Given the description of an element on the screen output the (x, y) to click on. 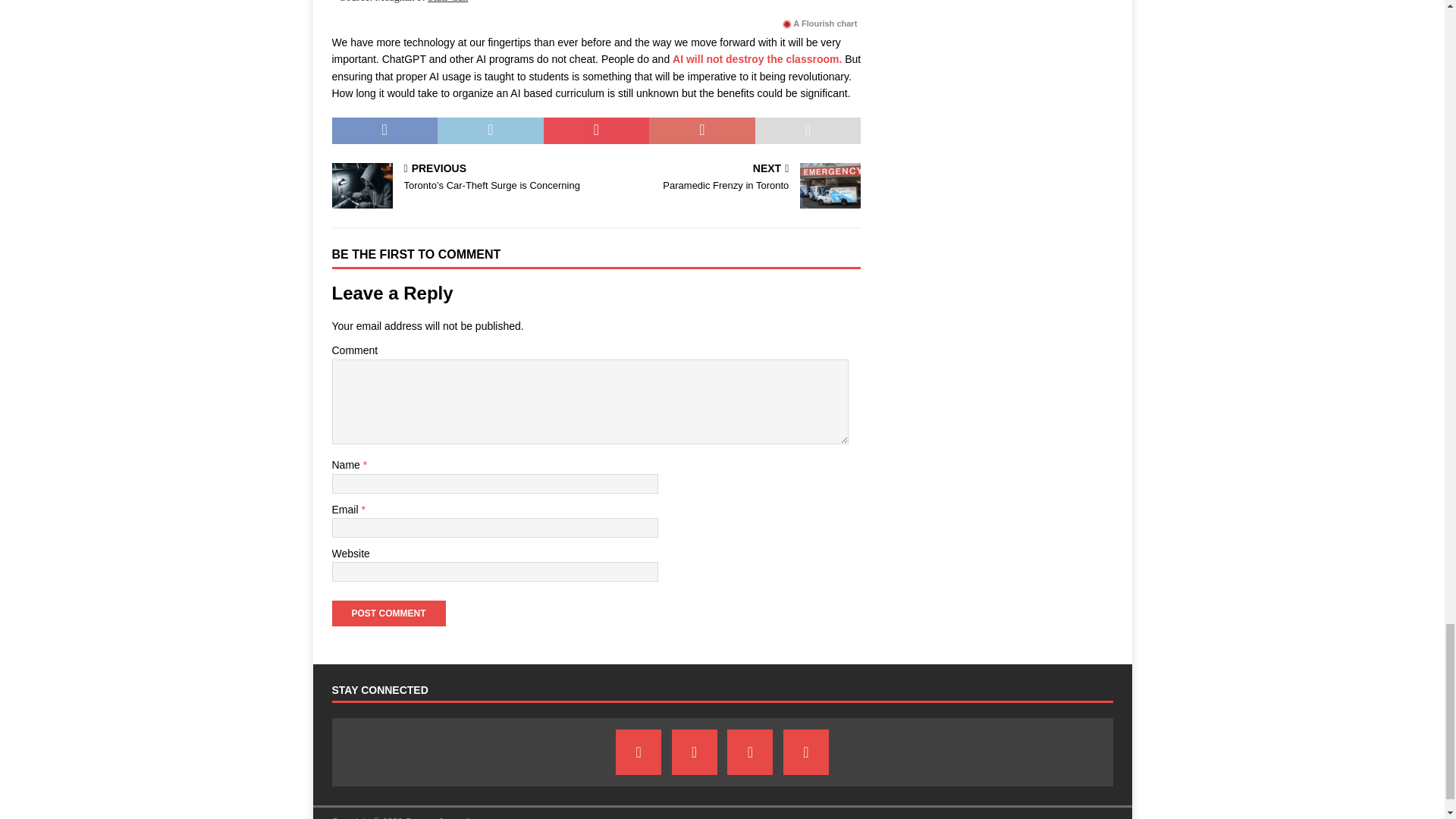
A Flourish chart (818, 24)
Interactive or visual content (596, 6)
Post Comment (388, 613)
AI will not destroy the classroom. (756, 59)
